Given the description of an element on the screen output the (x, y) to click on. 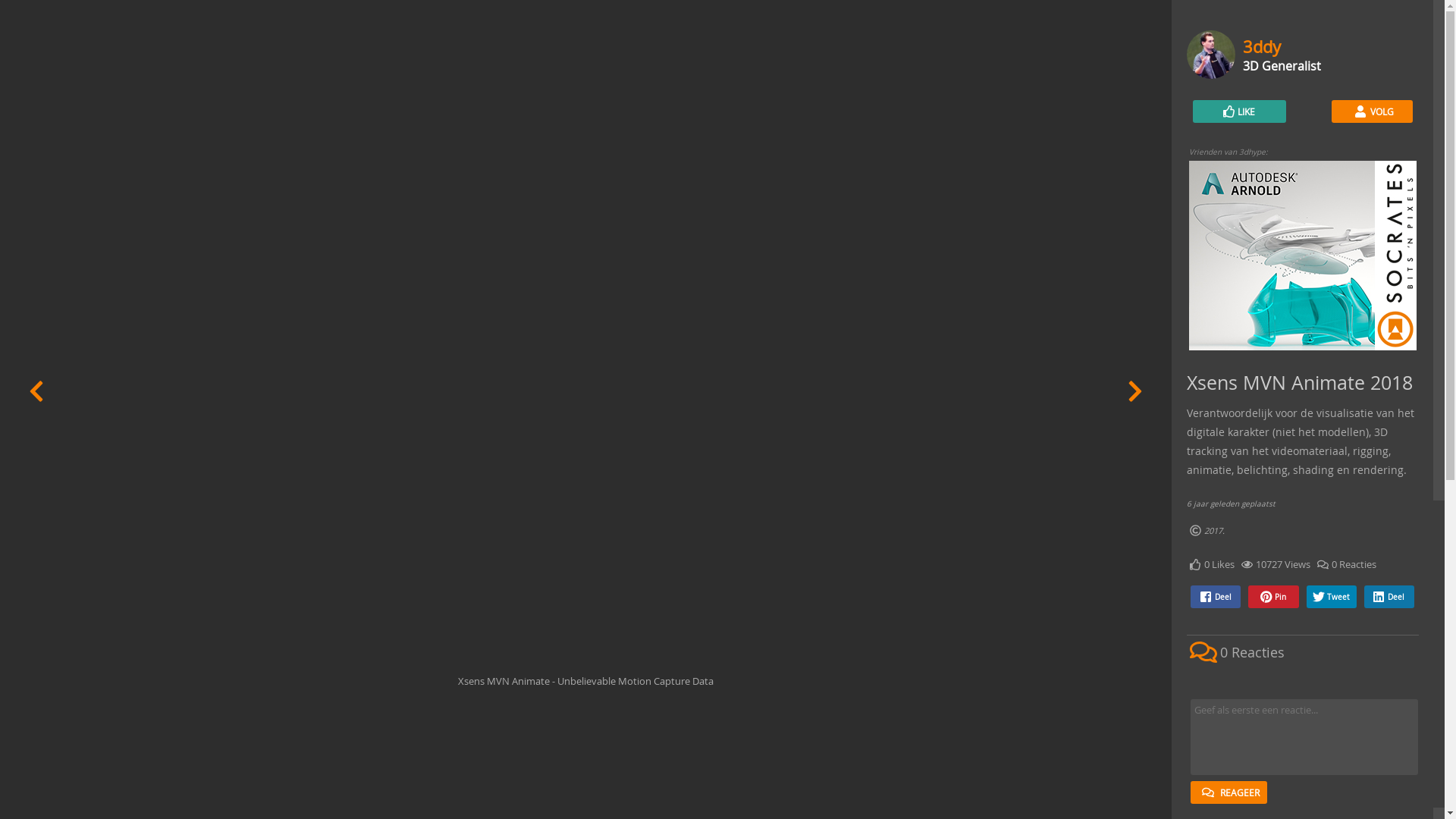
 REAGEER Element type: text (1228, 792)
3ddy Element type: text (1261, 45)
Verzenden Element type: text (24, 7)
